Given the description of an element on the screen output the (x, y) to click on. 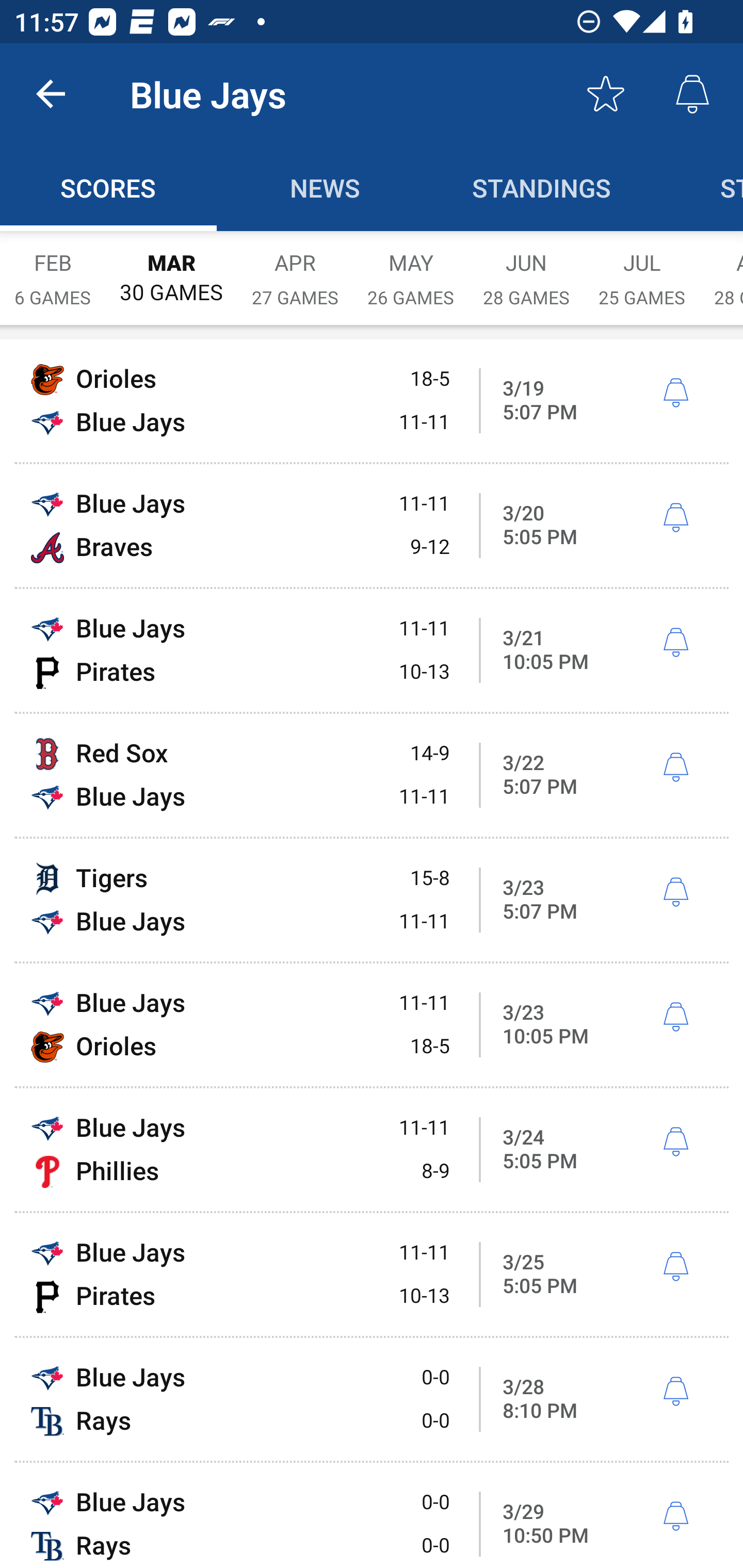
back.button (50, 93)
Favorite toggle (605, 93)
Alerts (692, 93)
News NEWS (324, 187)
Standings STANDINGS (541, 187)
FEB 6 GAMES (52, 268)
MAR 30 GAMES (171, 267)
APR 27 GAMES (294, 268)
MAY 26 GAMES (410, 268)
JUN 28 GAMES (525, 268)
JUL 25 GAMES (641, 268)
Orioles 18-5 Blue Jays 11-11 3/19 5:07 PM í (371, 400)
í (675, 392)
Blue Jays 11-11 Braves 9-12 3/20 5:05 PM í (371, 525)
í (675, 517)
Blue Jays 11-11 Pirates 10-13 3/21 10:05 PM í (371, 650)
í (675, 642)
Red Sox 14-9 Blue Jays 11-11 3/22 5:07 PM í (371, 775)
í (675, 767)
Tigers 15-8 Blue Jays 11-11 3/23 5:07 PM í (371, 899)
í (675, 892)
Blue Jays 11-11 Orioles 18-5 3/23 10:05 PM í (371, 1024)
í (675, 1016)
Blue Jays 11-11 Phillies 8-9 3/24 5:05 PM í (371, 1149)
í (675, 1141)
Blue Jays 11-11 Pirates 10-13 3/25 5:05 PM í (371, 1274)
í (675, 1266)
Blue Jays 0-0 Rays 0-0 3/28 8:10 PM í (371, 1399)
í (675, 1391)
Blue Jays 0-0 Rays 0-0 3/29 10:50 PM í (371, 1515)
í (675, 1516)
